Given the description of an element on the screen output the (x, y) to click on. 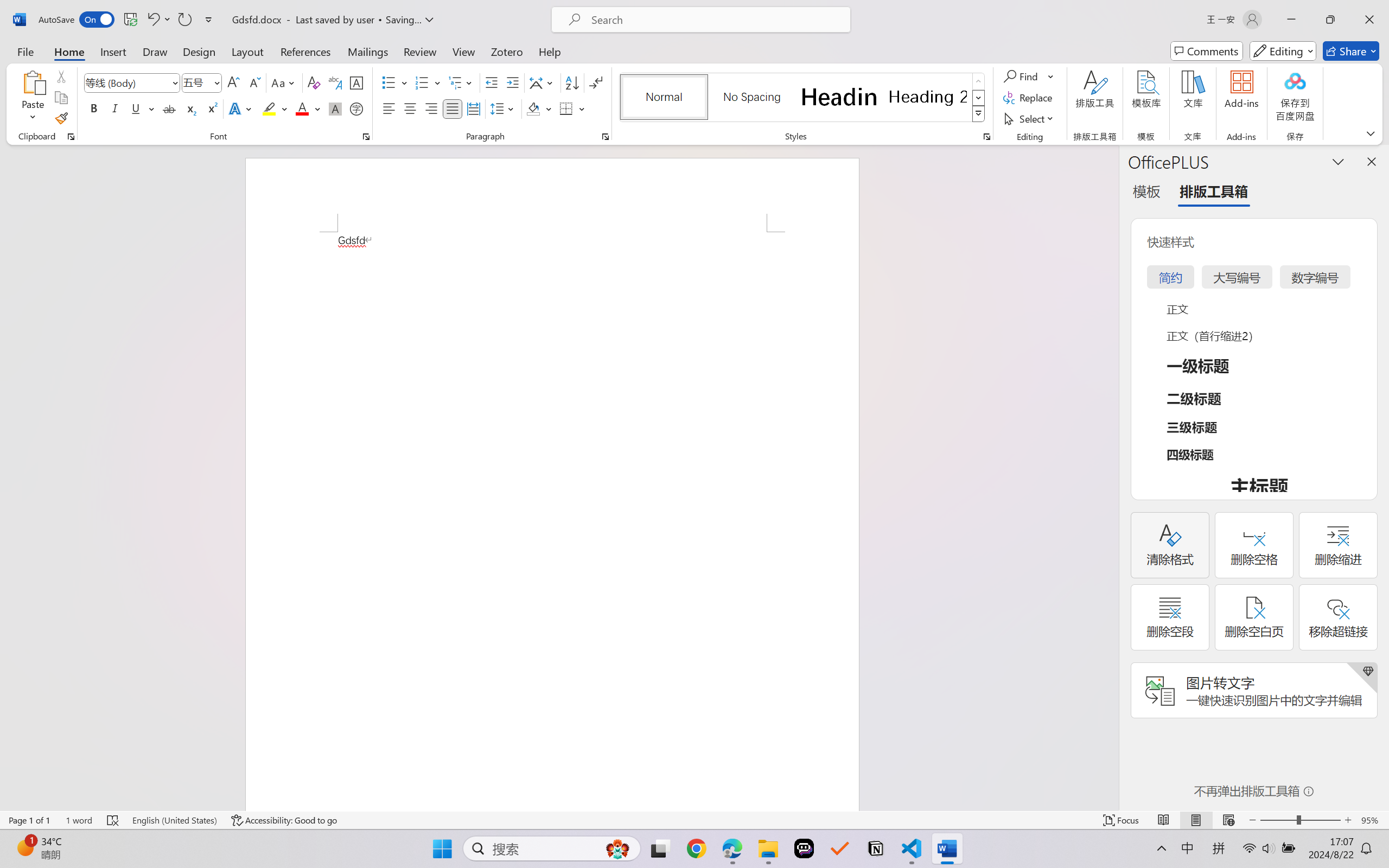
Font Color Red (302, 108)
